Given the description of an element on the screen output the (x, y) to click on. 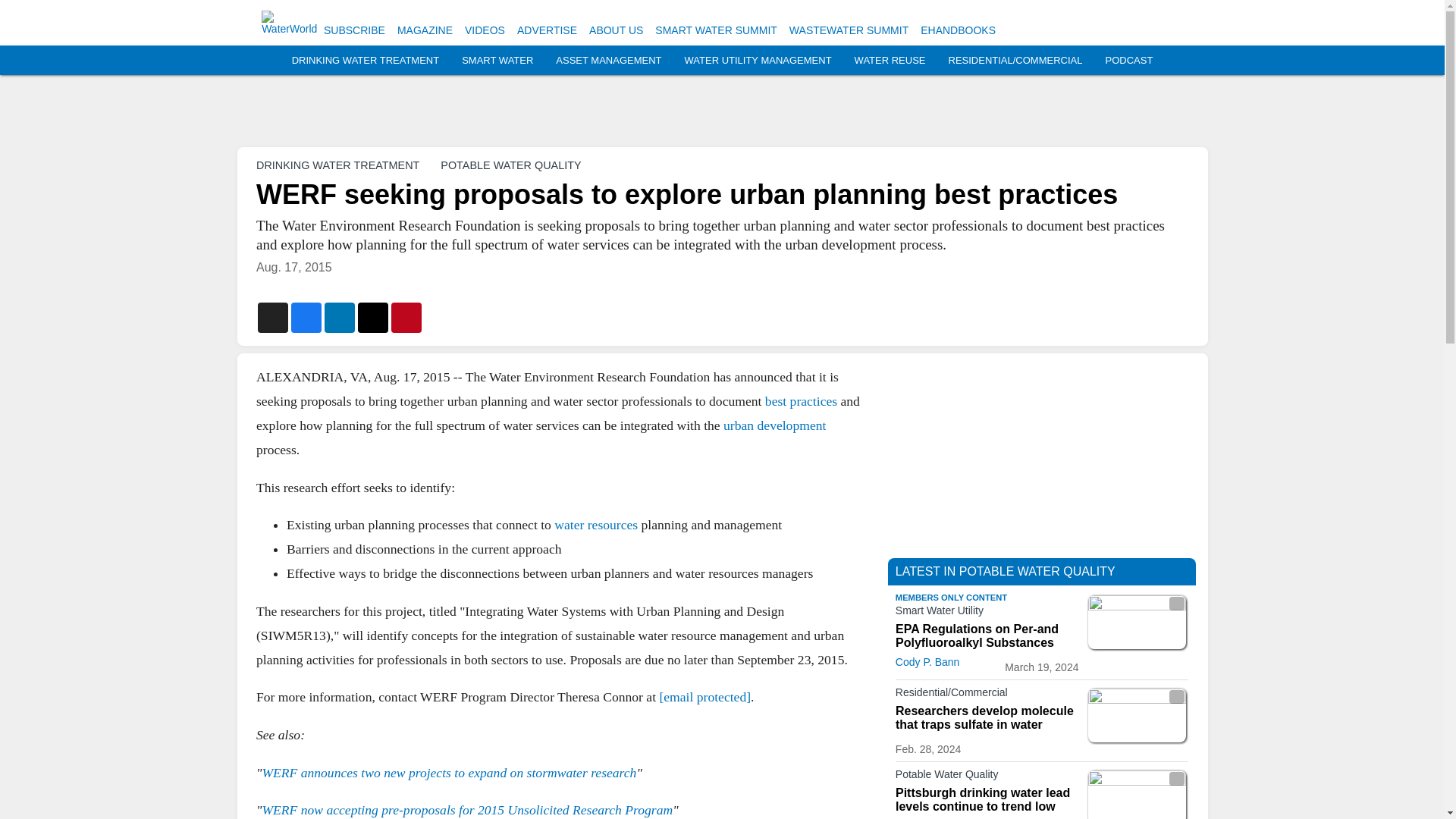
SUBSCRIBE (354, 30)
WASTEWATER SUMMIT (848, 30)
EHANDBOOKS (957, 30)
WATER UTILITY MANAGEMENT (757, 60)
SMART WATER (496, 60)
WATER REUSE (890, 60)
ASSET MANAGEMENT (608, 60)
POTABLE WATER QUALITY (510, 164)
VIDEOS (484, 30)
